Given the description of an element on the screen output the (x, y) to click on. 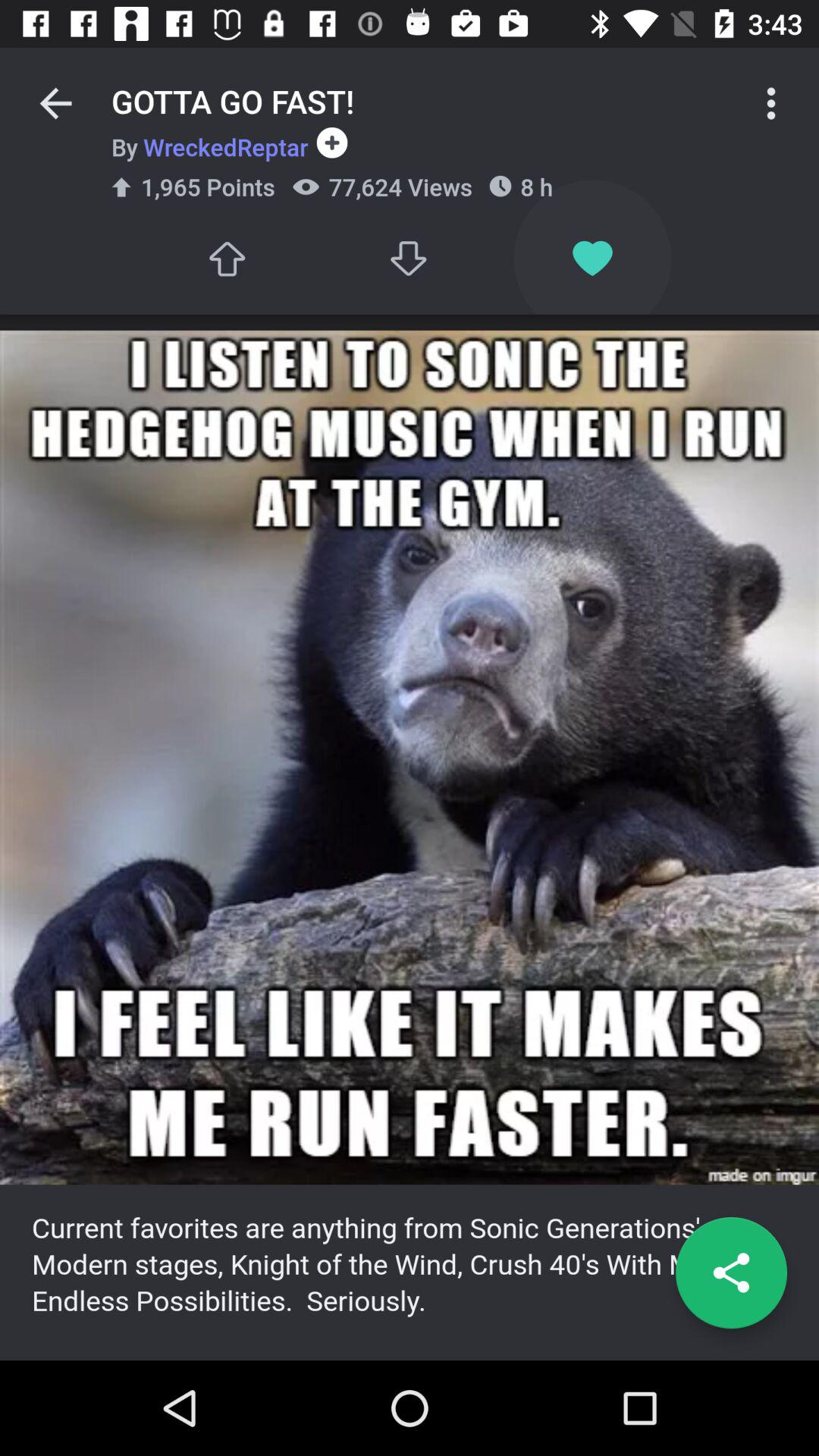
go back (55, 103)
